Given the description of an element on the screen output the (x, y) to click on. 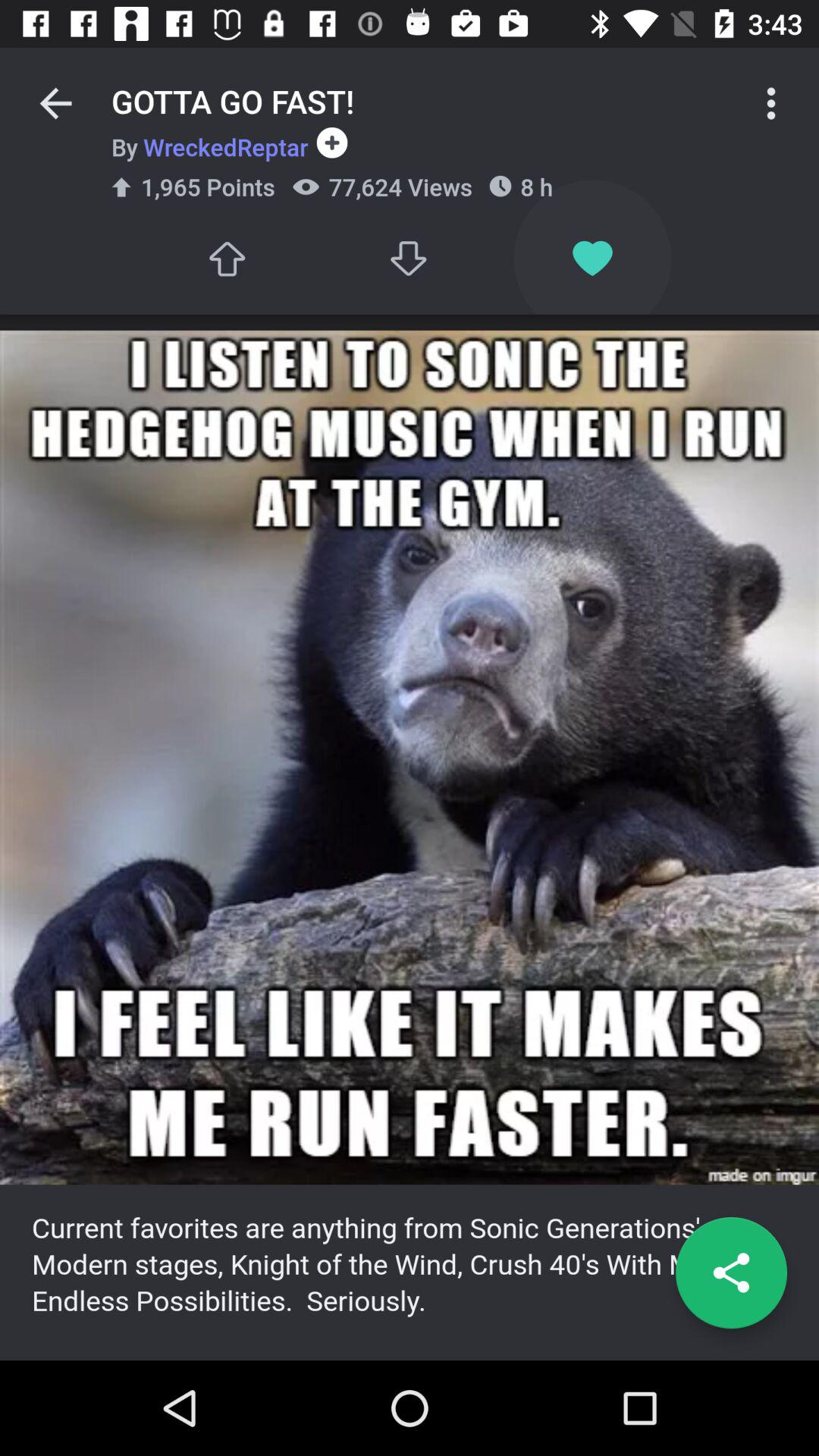
go back (55, 103)
